Given the description of an element on the screen output the (x, y) to click on. 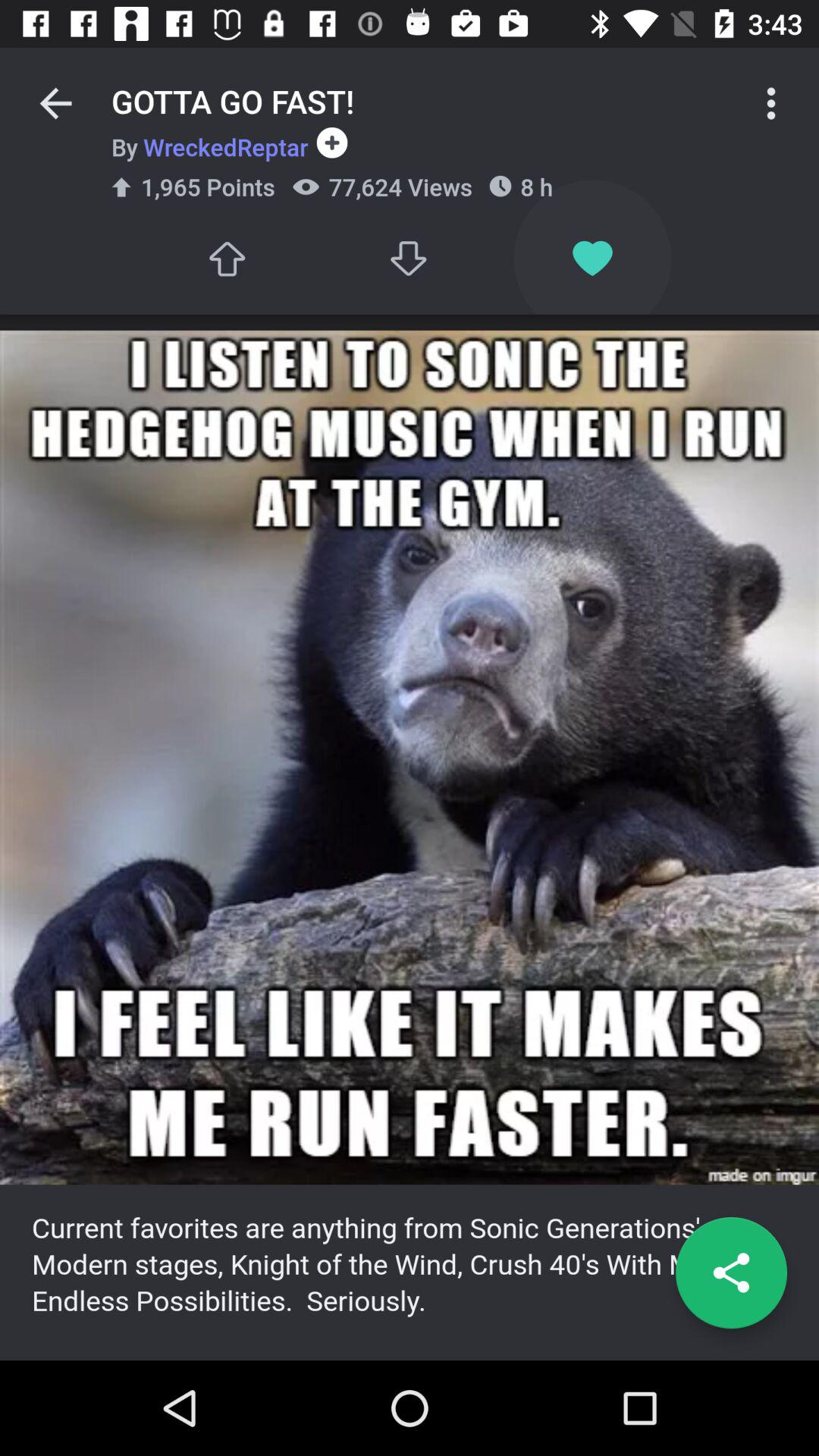
go back (55, 103)
